Given the description of an element on the screen output the (x, y) to click on. 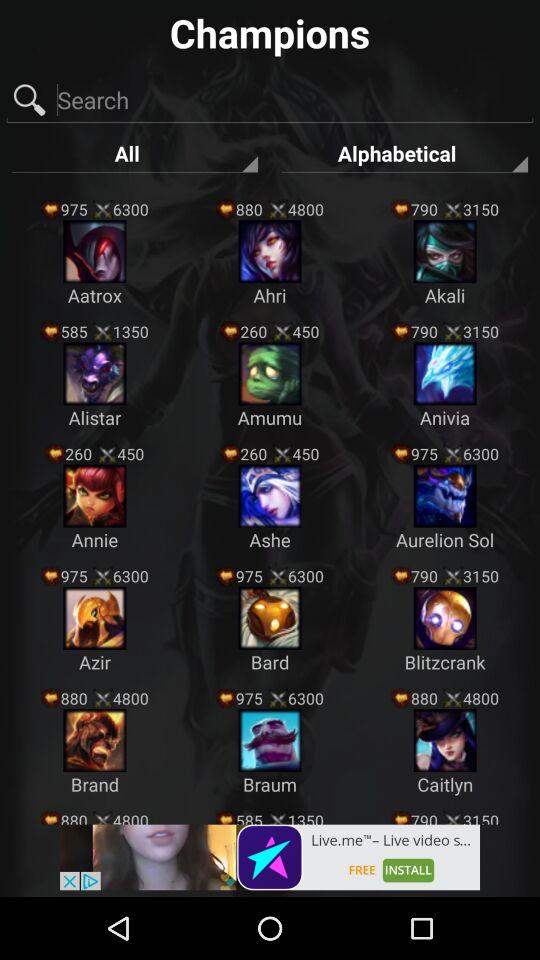
search (269, 100)
